Given the description of an element on the screen output the (x, y) to click on. 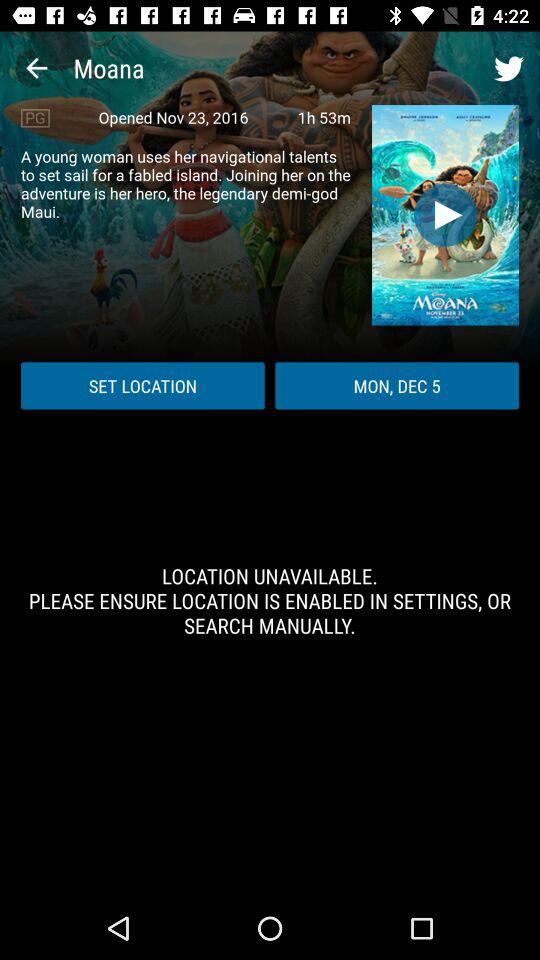
select the item above opened nov 23 (36, 68)
